Given the description of an element on the screen output the (x, y) to click on. 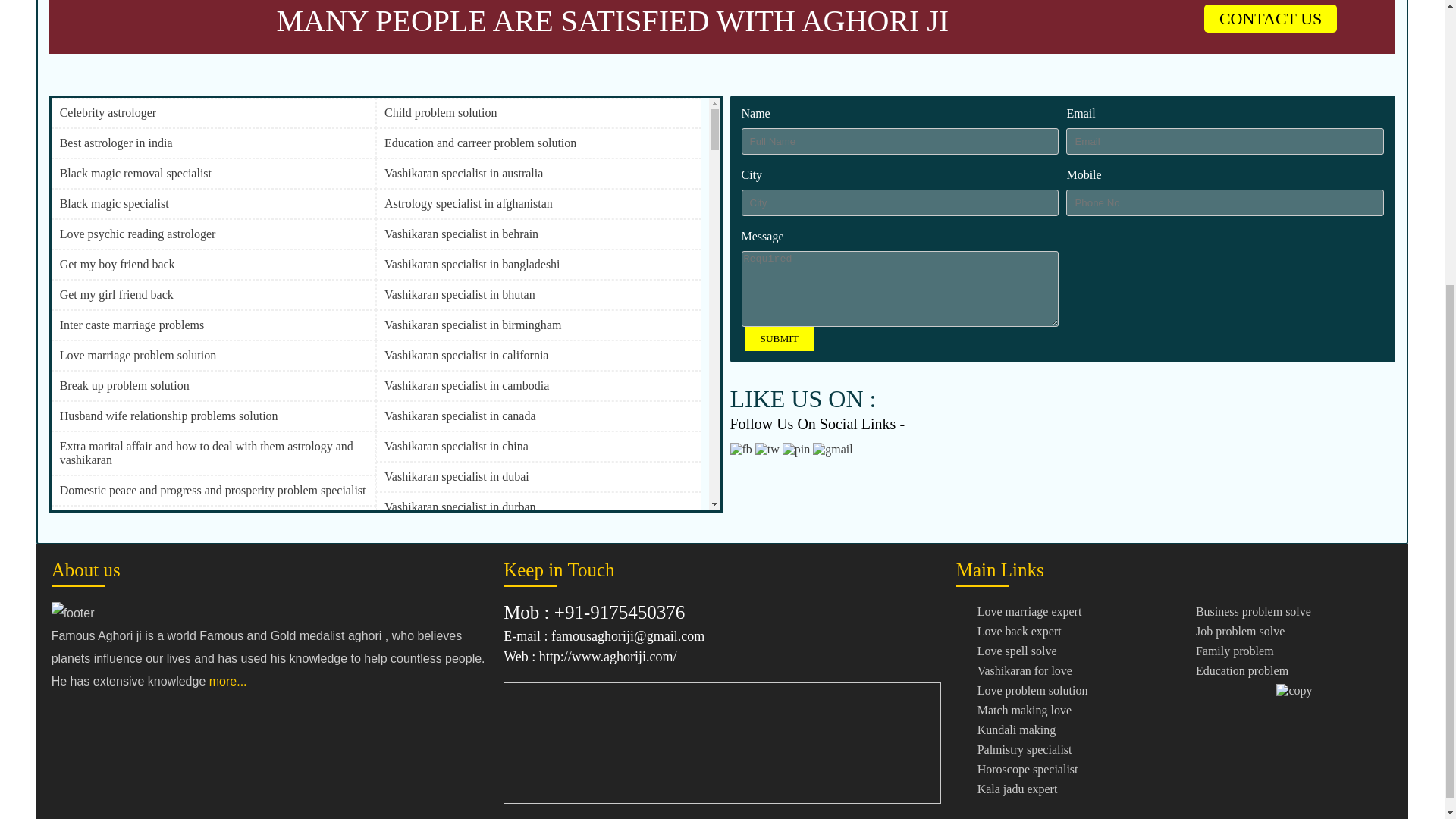
best astrologer in india (212, 142)
break up problem solution (212, 385)
vashikaran specialist in india (212, 641)
CONTACT US (1270, 18)
how to change a boy or girl mind about me and my personality (212, 702)
inter caste marriage problems (212, 324)
how to get my ex back by vashikaran (212, 611)
black magic removal specialist (212, 173)
husband wife relationship problems solution (212, 415)
family problems solution after love inter caste marriage (212, 671)
get my boy friend back (212, 263)
black magic specialist (212, 203)
love psychic reading astrologer (212, 233)
love marriage specialist astrologer (212, 762)
get my girl friend back (212, 294)
